Given the description of an element on the screen output the (x, y) to click on. 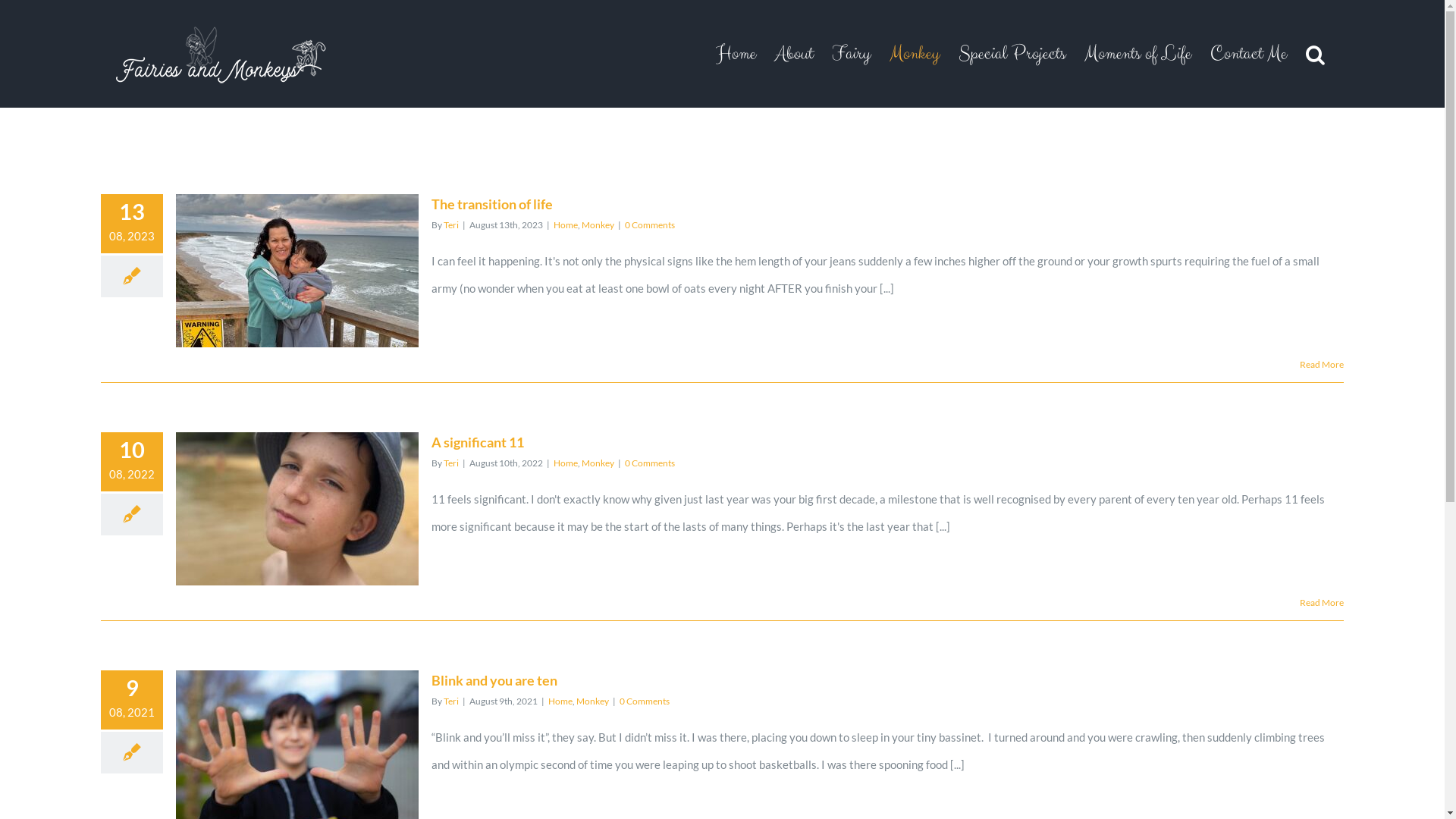
Monkey Element type: text (592, 700)
Special Projects Element type: text (1011, 53)
0 Comments Element type: text (649, 224)
Monkey Element type: text (597, 462)
Search Element type: hover (1314, 53)
Home Element type: text (735, 53)
Monkey Element type: text (914, 53)
The transition of life Element type: text (491, 203)
Home Element type: text (565, 462)
Teri Element type: text (450, 224)
Read More Element type: text (1321, 602)
Moments of Life Element type: text (1137, 53)
Home Element type: text (565, 224)
Home Element type: text (560, 700)
Blink and you are ten Element type: text (494, 679)
Teri Element type: text (450, 462)
A significant 11 Element type: text (477, 441)
Monkey Element type: text (597, 224)
Fairy Element type: text (850, 53)
Contact Me Element type: text (1248, 53)
Read More Element type: text (1321, 364)
0 Comments Element type: text (644, 700)
About Element type: text (793, 53)
0 Comments Element type: text (649, 462)
Teri Element type: text (450, 700)
